Given the description of an element on the screen output the (x, y) to click on. 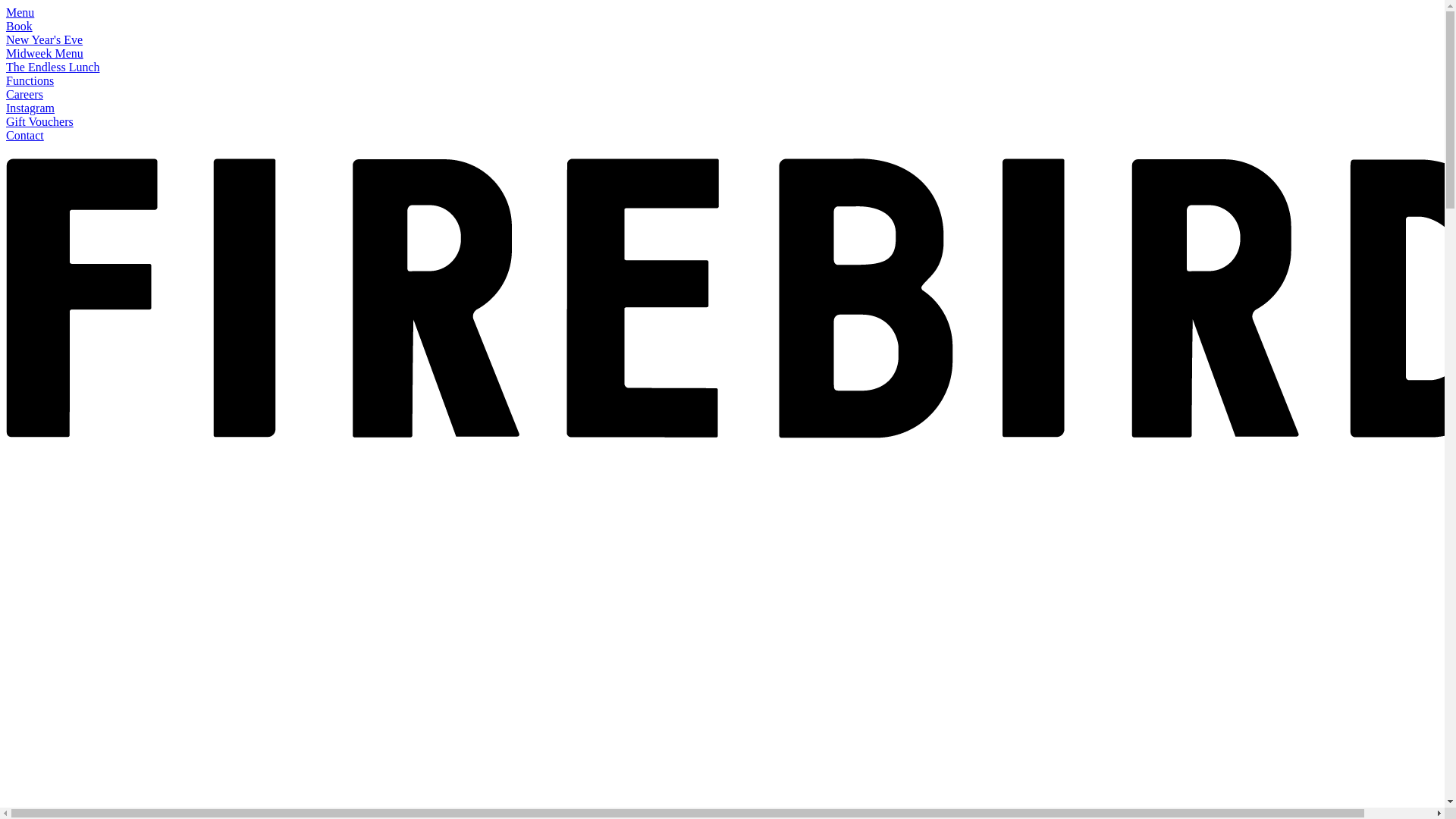
Gift Vouchers Element type: text (39, 121)
Instagram Element type: text (30, 107)
Midweek Menu Element type: text (44, 53)
Menu Element type: text (20, 12)
Book Element type: text (19, 25)
Careers Element type: text (24, 93)
Functions Element type: text (29, 80)
Contact Element type: text (24, 134)
New Year's Eve Element type: text (44, 39)
The Endless Lunch Element type: text (53, 66)
